Given the description of an element on the screen output the (x, y) to click on. 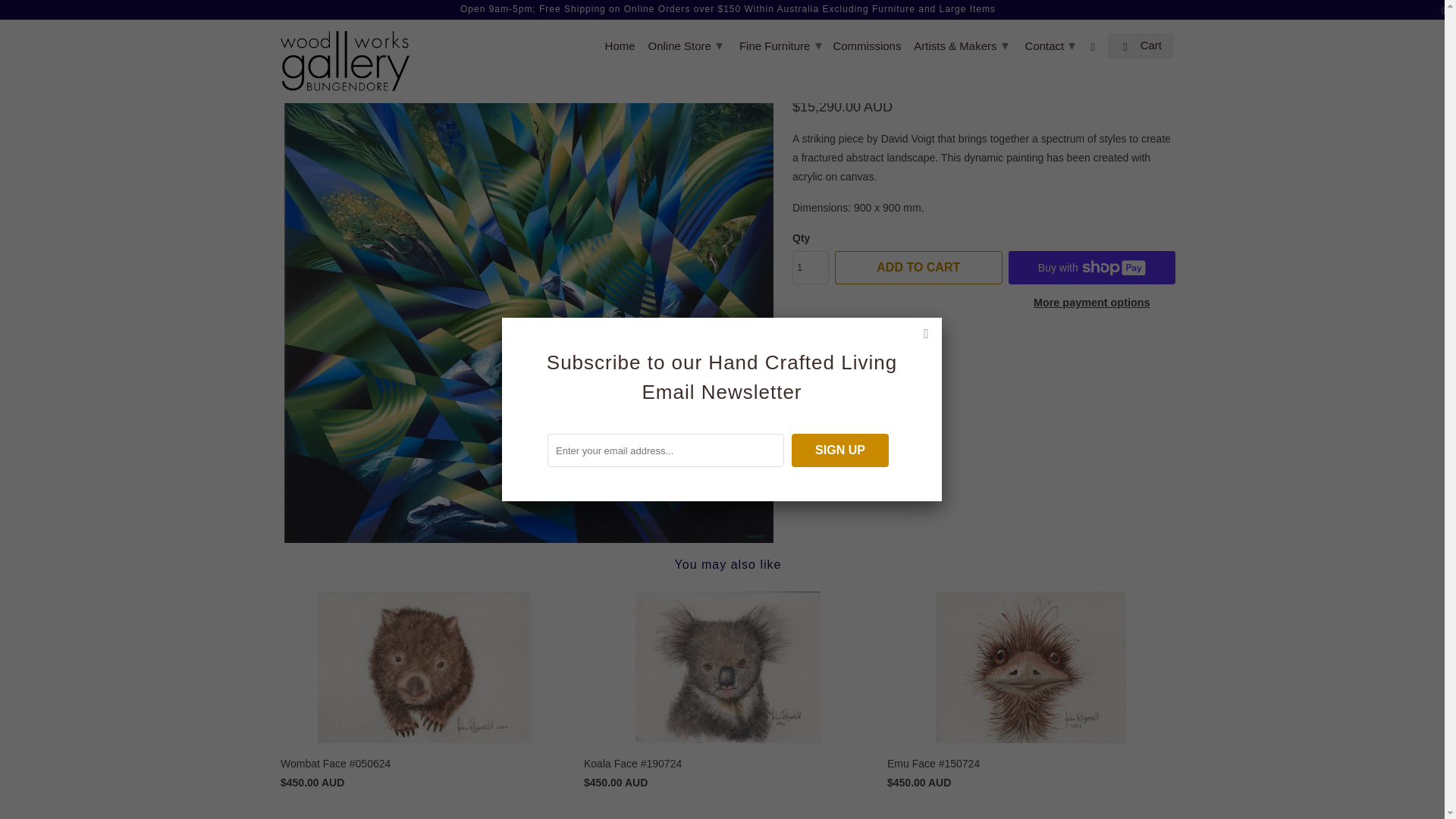
Bungendore Wood Works Gallery (294, 24)
Share this on Facebook (865, 351)
Share this on Pinterest (892, 351)
Email this to a friend (919, 351)
Sign Up (840, 450)
Share this on Twitter (838, 351)
1 (810, 267)
Products (345, 24)
